Given the description of an element on the screen output the (x, y) to click on. 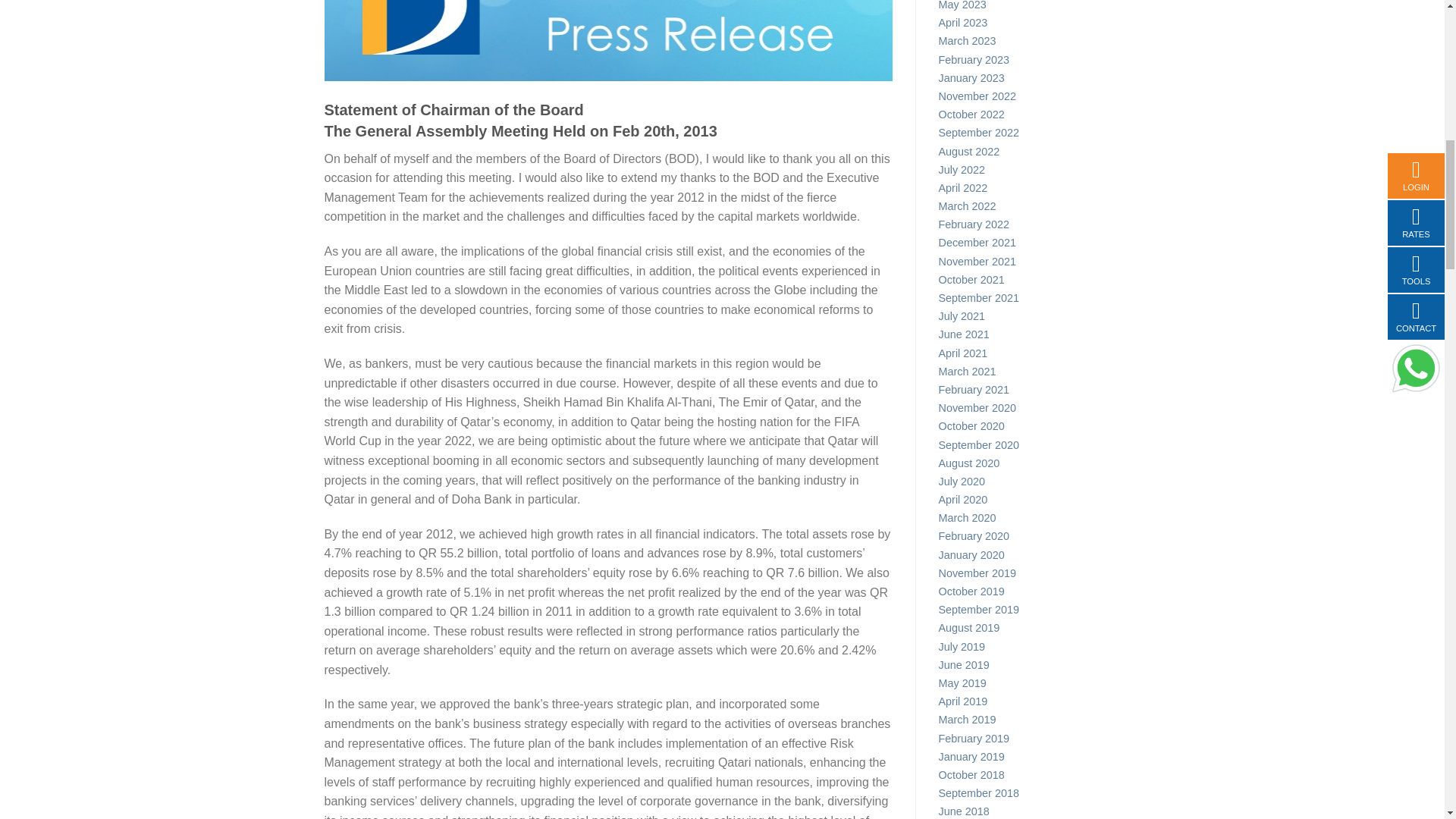
January 2023 (1030, 80)
May 2023 (1030, 7)
April 2023 (1030, 24)
February 2023 (1030, 62)
March 2023 (1030, 43)
